Given the description of an element on the screen output the (x, y) to click on. 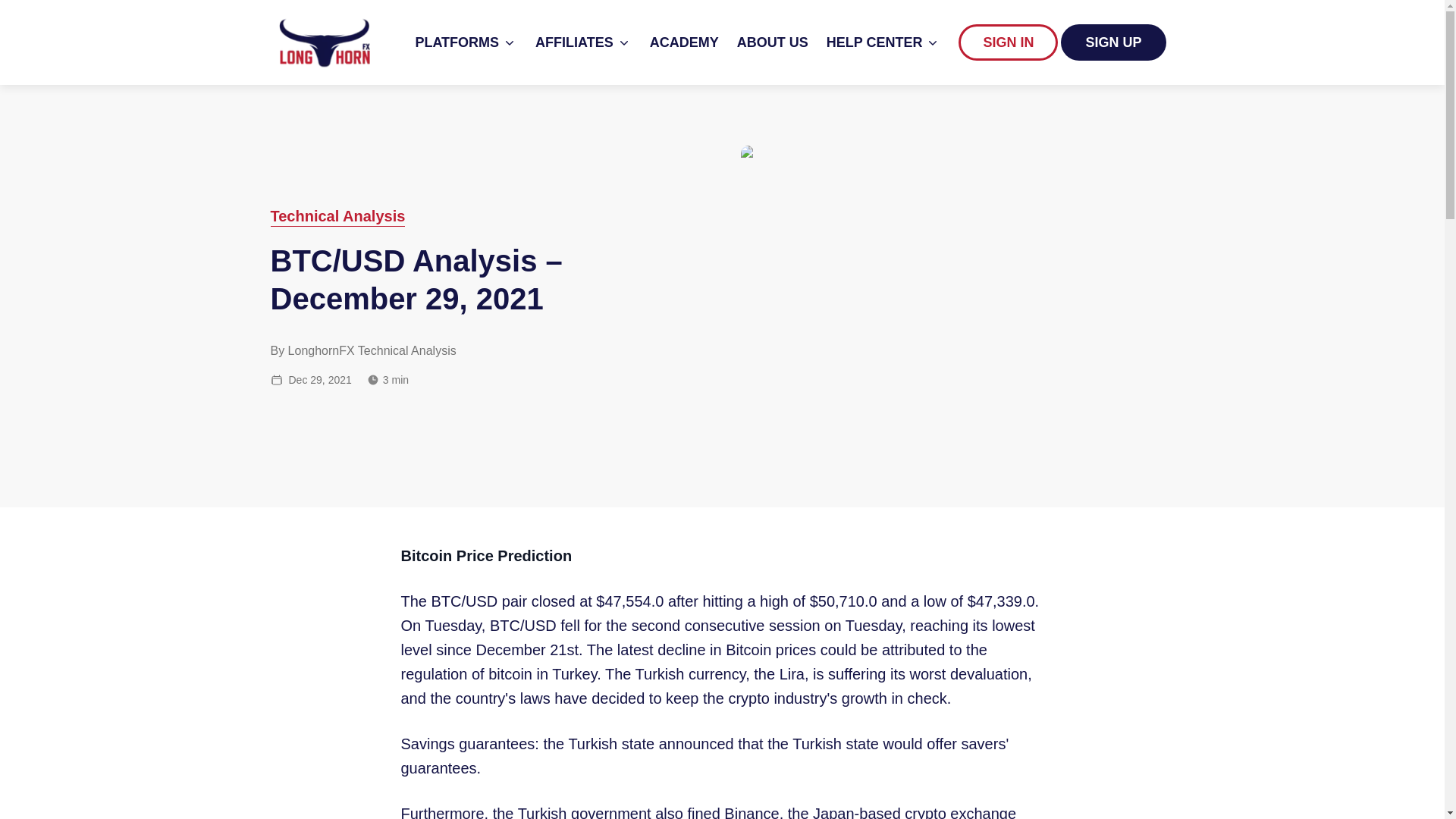
AFFILIATES (583, 42)
SIGN UP (1113, 42)
SIGN IN (1008, 42)
ABOUT US (772, 42)
ACADEMY (684, 42)
SIGN IN (1007, 42)
SIGN UP (1112, 42)
Technical Analysis (336, 215)
PLATFORMS (465, 42)
HELP CENTER (883, 42)
